Given the description of an element on the screen output the (x, y) to click on. 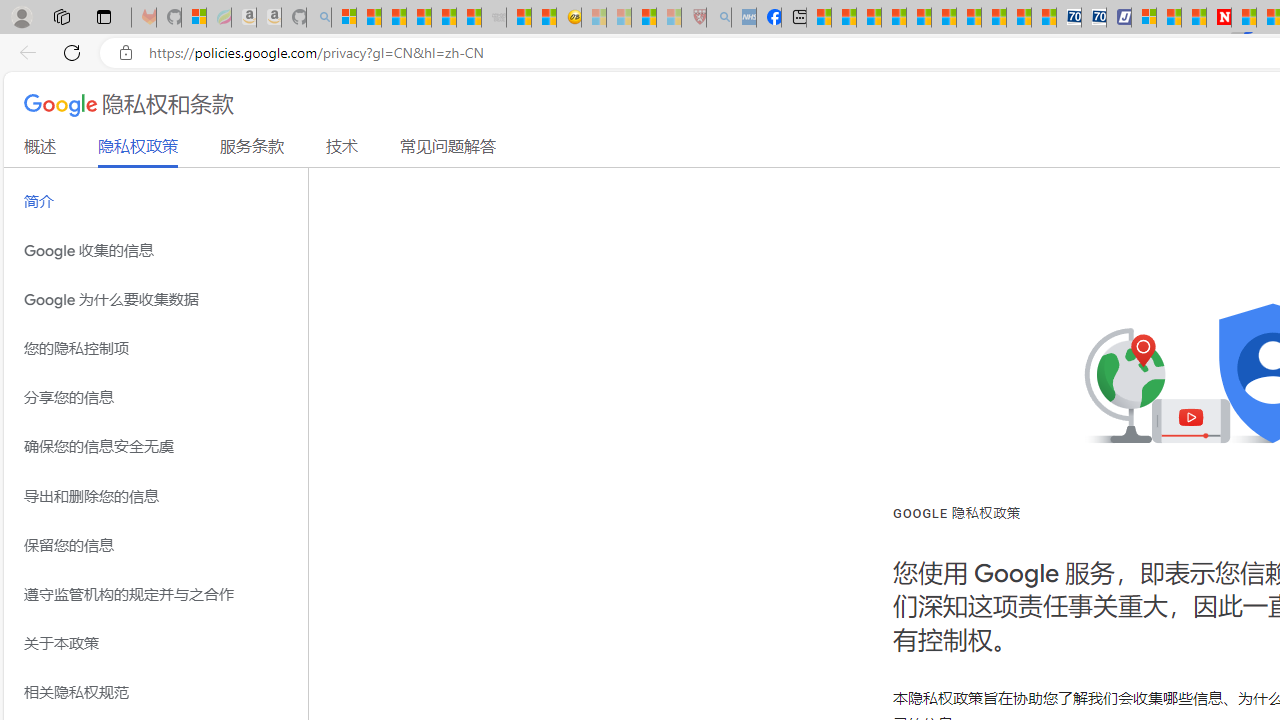
12 Popular Science Lies that Must be Corrected - Sleeping (668, 17)
